Given the description of an element on the screen output the (x, y) to click on. 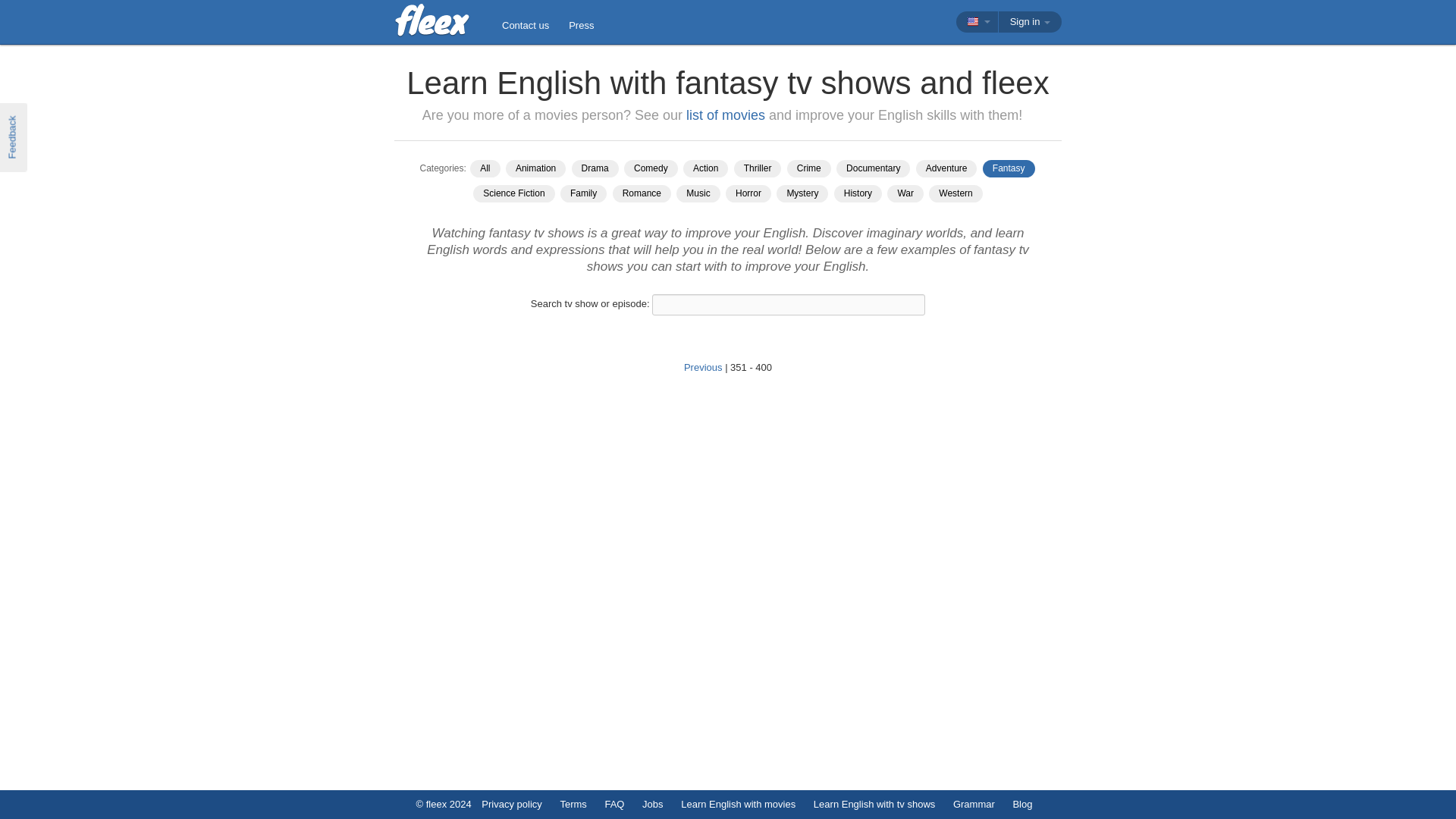
Comedy (651, 168)
Sign in (1029, 21)
Drama (595, 168)
Thriller (757, 168)
Adventure (945, 168)
Fantasy (1008, 168)
Action (705, 168)
History (858, 193)
Contact us (525, 25)
Press (580, 25)
Animation (535, 168)
Horror (748, 193)
Family (583, 193)
Crime (809, 168)
Romance (641, 193)
